Given the description of an element on the screen output the (x, y) to click on. 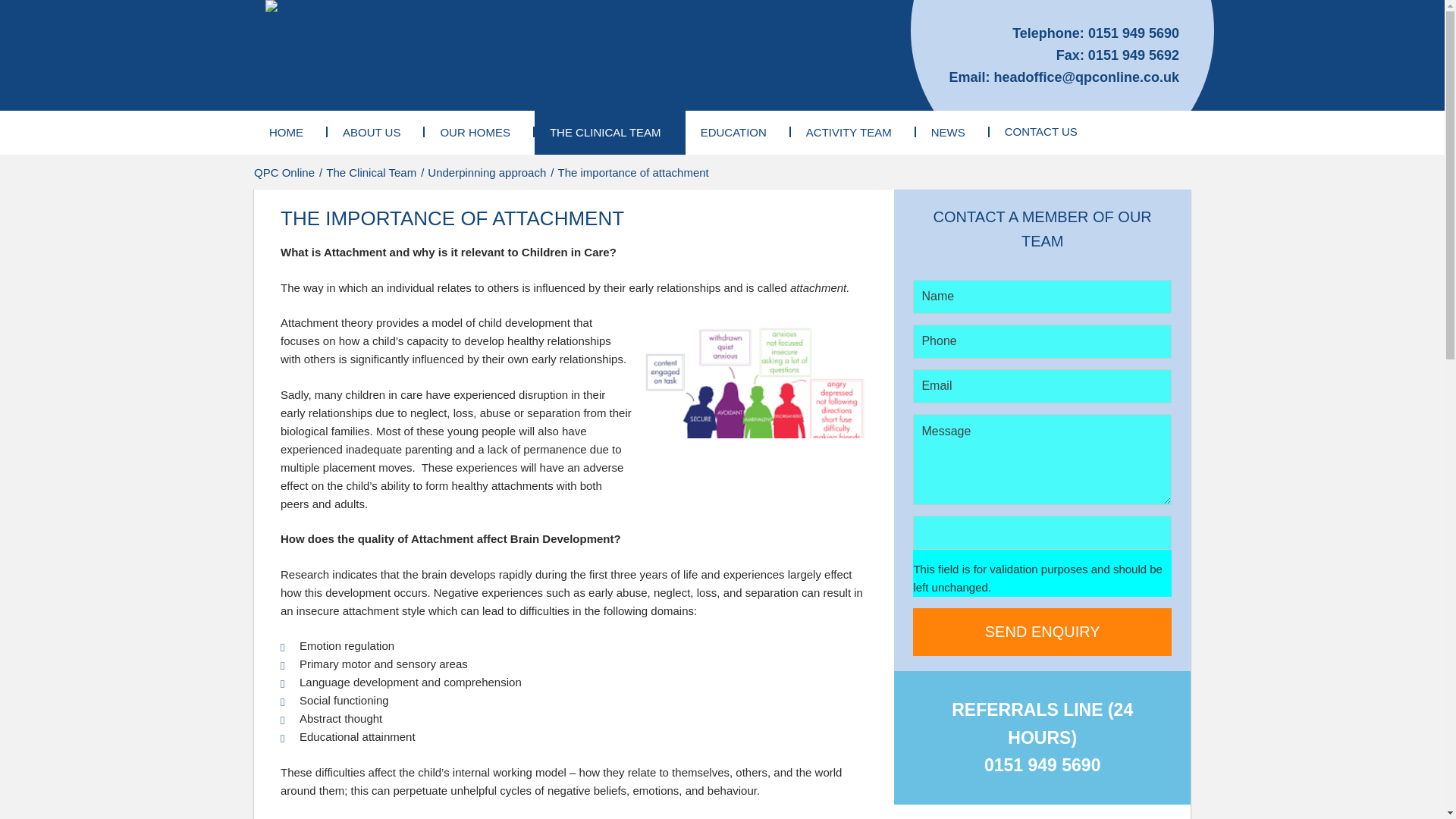
Go to The Clinical Team. (372, 172)
Go to Underpinning approach. (488, 172)
EDUCATION (737, 132)
0151 949 5690 (1133, 33)
Go to QPC Online. (285, 172)
ABOUT US (376, 132)
OUR HOMES (479, 132)
THE CLINICAL TEAM (609, 132)
Send Enquiry (1042, 632)
HOME (290, 132)
